Given the description of an element on the screen output the (x, y) to click on. 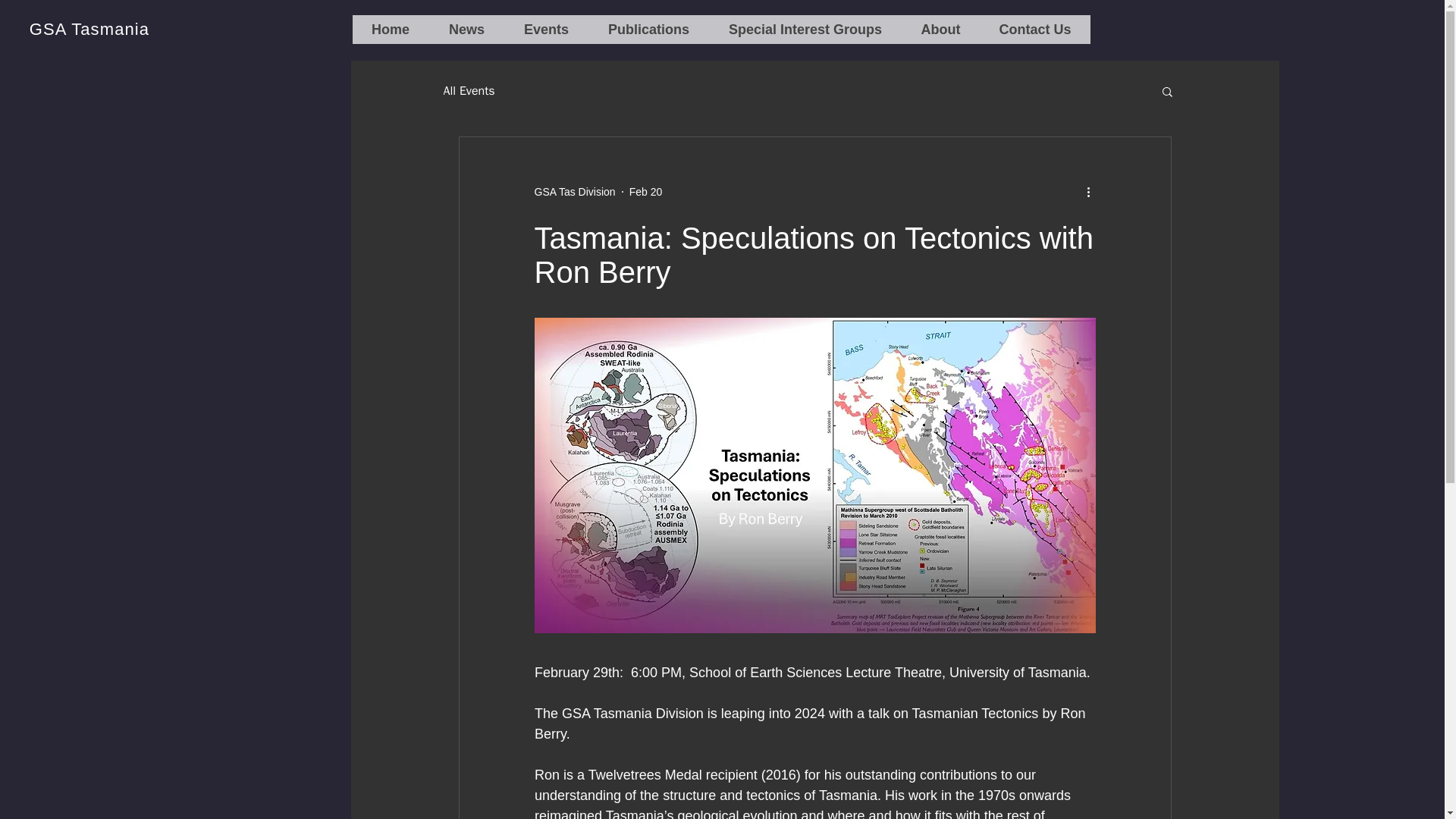
GSA Tas Division (574, 191)
About (939, 29)
Special Interest Groups (804, 29)
All Events (468, 91)
Home (390, 29)
Events (545, 29)
Feb 20 (645, 191)
GSA Tas Division (574, 191)
GSA Tasmania (89, 28)
Publications (648, 29)
News (466, 29)
Contact Us (1034, 29)
